Given the description of an element on the screen output the (x, y) to click on. 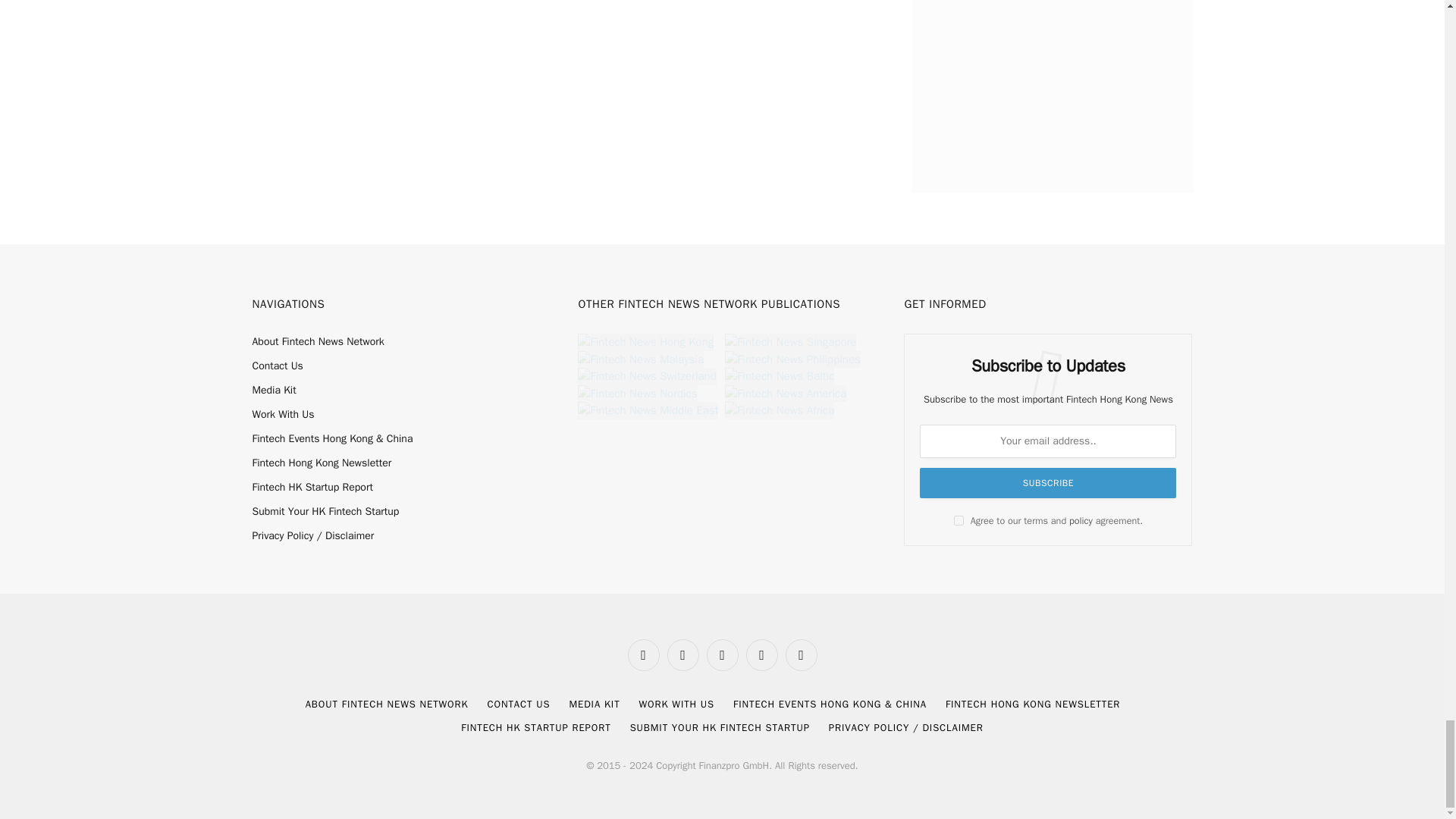
on (958, 520)
Subscribe (1048, 482)
